Given the description of an element on the screen output the (x, y) to click on. 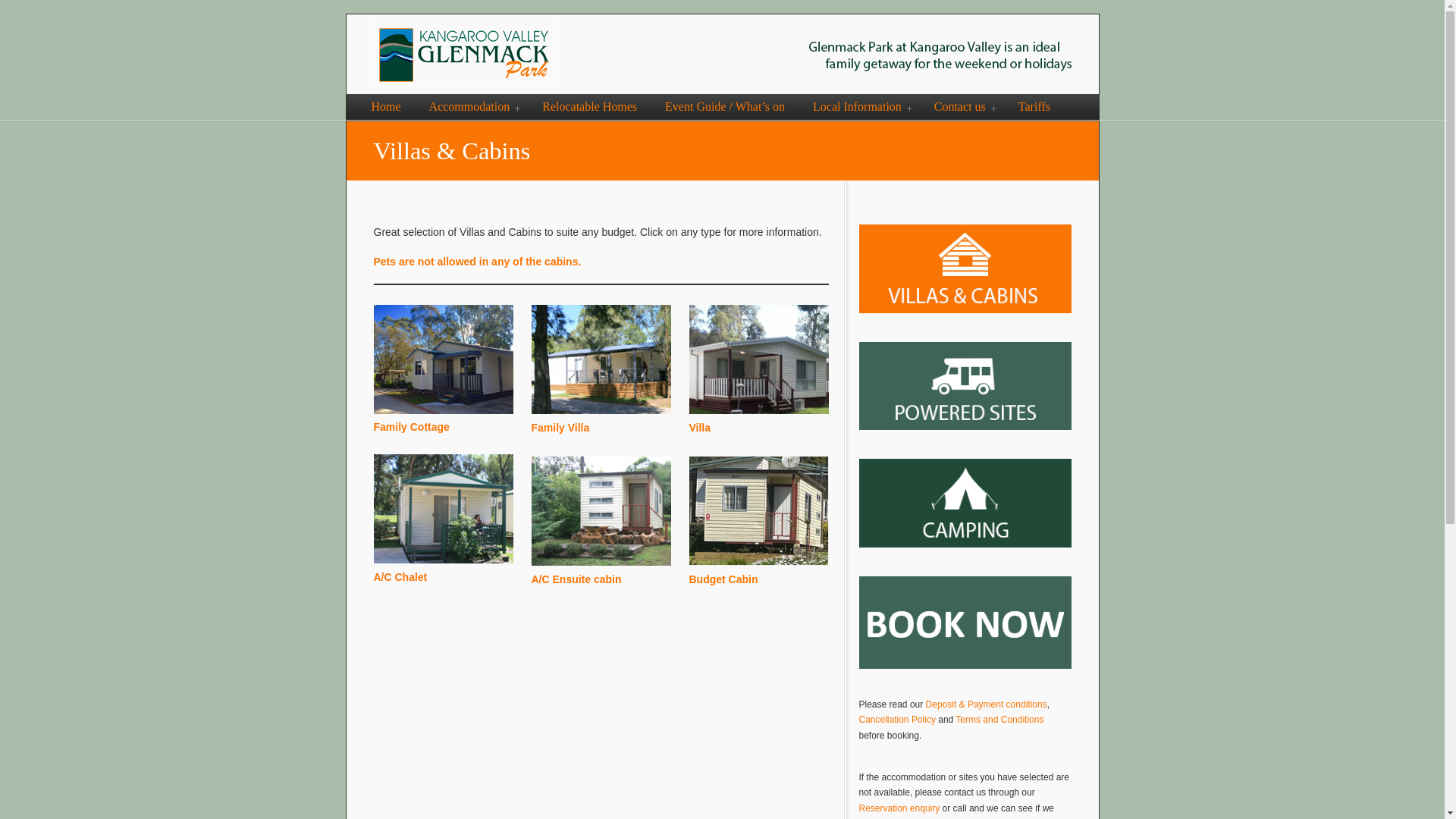
Park Map (394, 138)
Home (386, 106)
Villa (699, 426)
Accommodation (471, 106)
Local Information (859, 106)
Family Cottage (410, 426)
Contact us (962, 106)
Budget Cabin (722, 579)
Pets are not allowed in any of the cabins. (476, 261)
Relocatable Homes (589, 106)
